Given the description of an element on the screen output the (x, y) to click on. 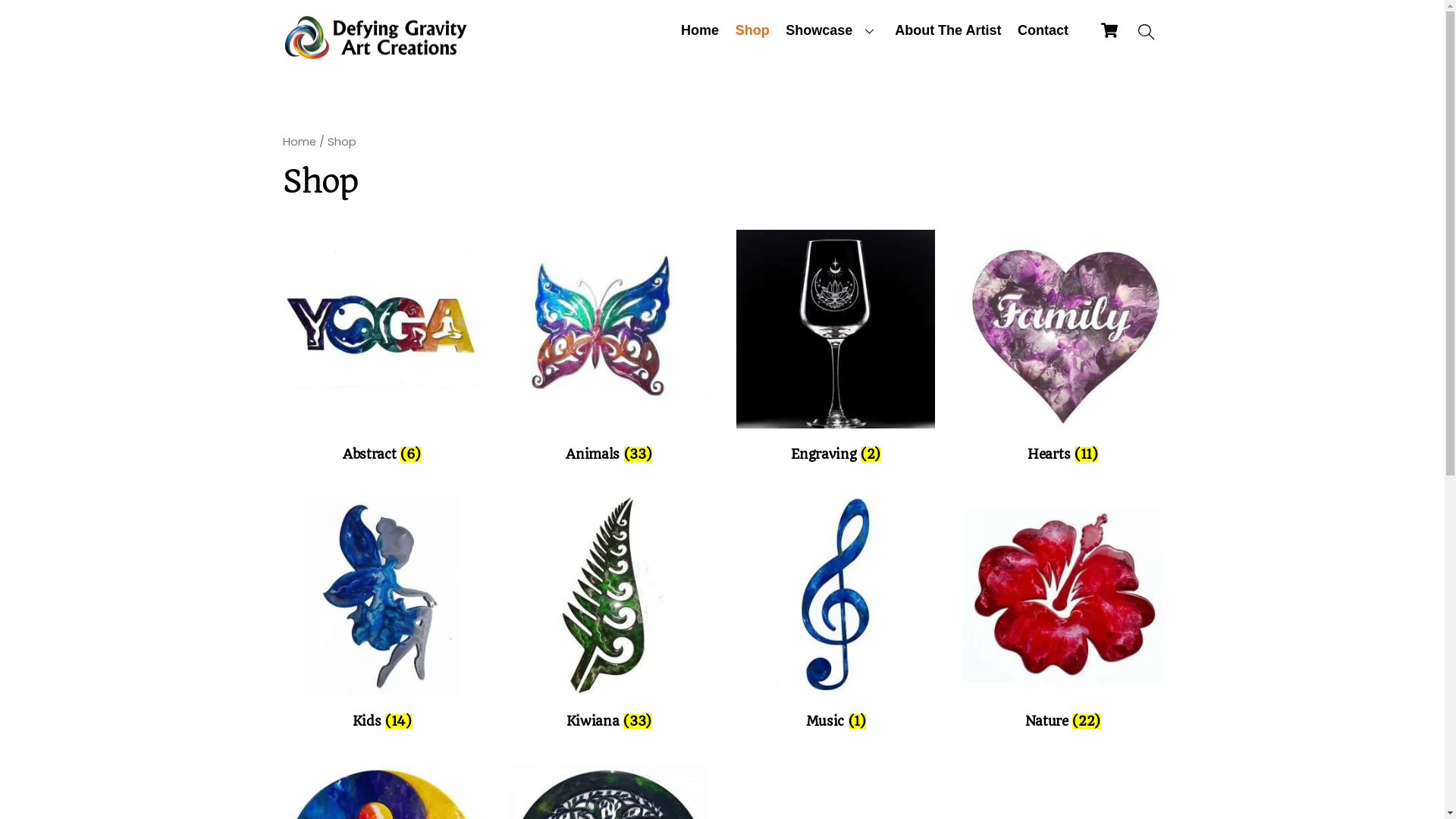
Hearts (11) Element type: text (1062, 348)
Home Element type: text (699, 30)
Kiwiana (33) Element type: text (608, 615)
Abstract (6) Element type: text (381, 348)
Kids (14) Element type: text (381, 615)
Search Element type: text (1146, 32)
DGAC-logo-landscape Element type: hover (376, 37)
Defying Gravity Element type: hover (376, 51)
Music (1) Element type: text (835, 615)
Contact Element type: text (1042, 30)
About The Artist Element type: text (947, 30)
Engraving (2) Element type: text (835, 348)
Home Element type: text (298, 141)
Nature (22) Element type: text (1062, 615)
Animals (33) Element type: text (608, 348)
Showcase Element type: text (832, 30)
Cart Element type: text (1109, 30)
Shop Element type: text (752, 30)
